Given the description of an element on the screen output the (x, y) to click on. 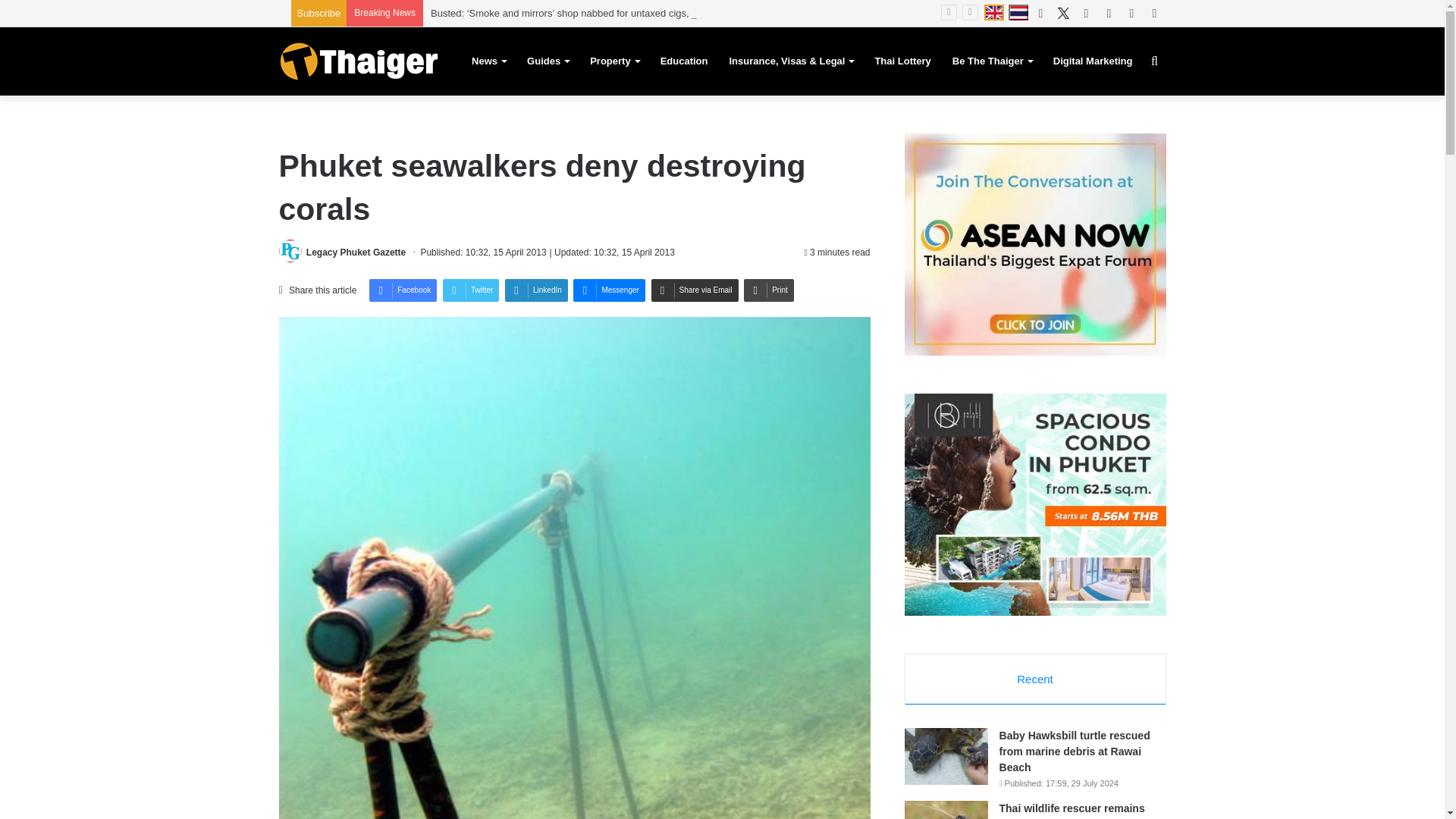
Share via Email (694, 290)
LinkedIn (536, 290)
Facebook (402, 290)
Print (768, 290)
Legacy Phuket Gazette (355, 252)
Thaiger (358, 60)
Twitter (470, 290)
Messenger (609, 290)
Subscribe (318, 12)
